Given the description of an element on the screen output the (x, y) to click on. 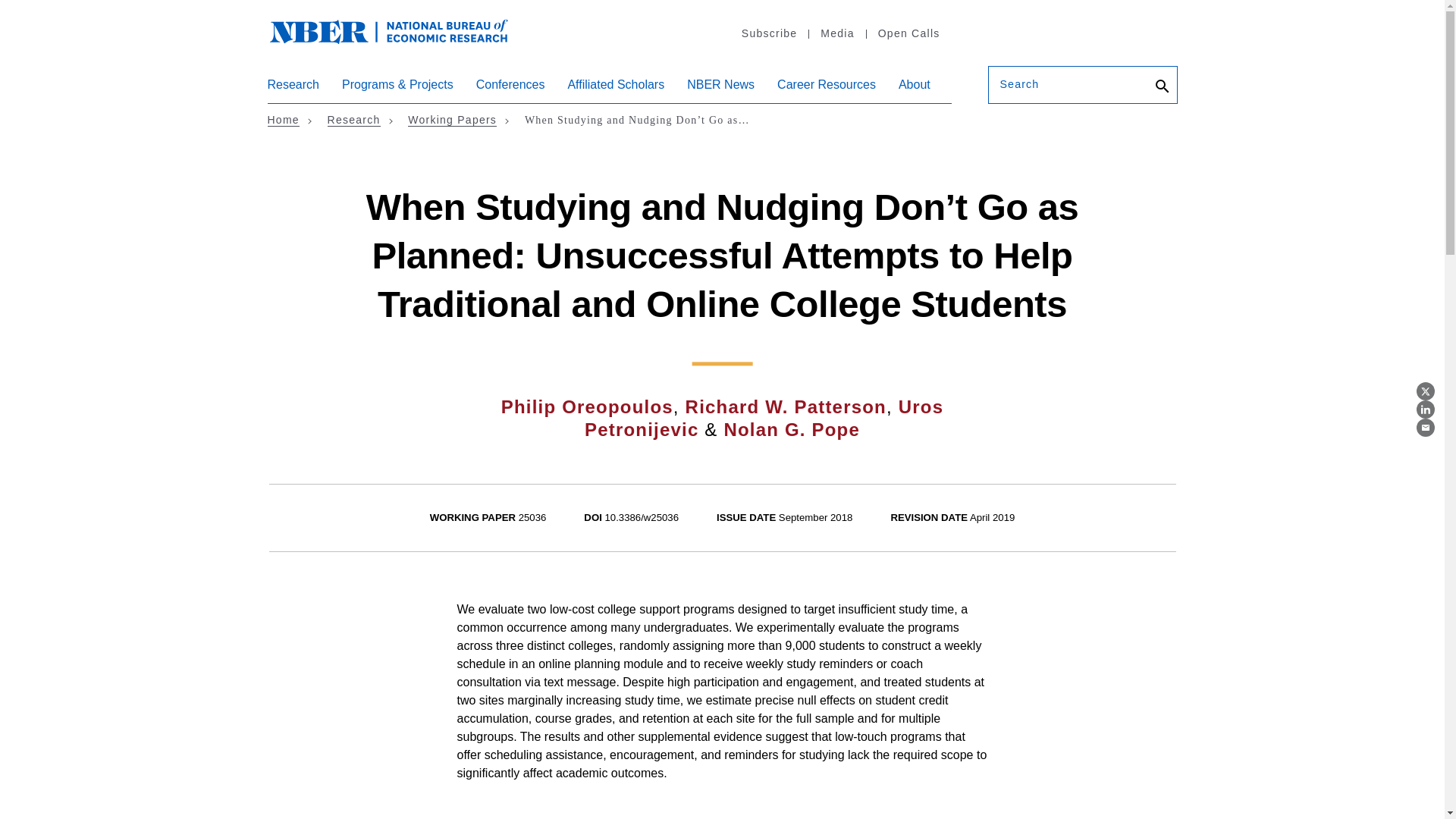
NBER: National Bureau of Economic Research (400, 39)
LinkedIn (1425, 409)
Media (836, 33)
Research (292, 90)
Open Calls (909, 33)
NBER: National Bureau of Economic Research (387, 31)
Twitter (1425, 391)
Email (1425, 427)
Subscribe (769, 33)
